Given the description of an element on the screen output the (x, y) to click on. 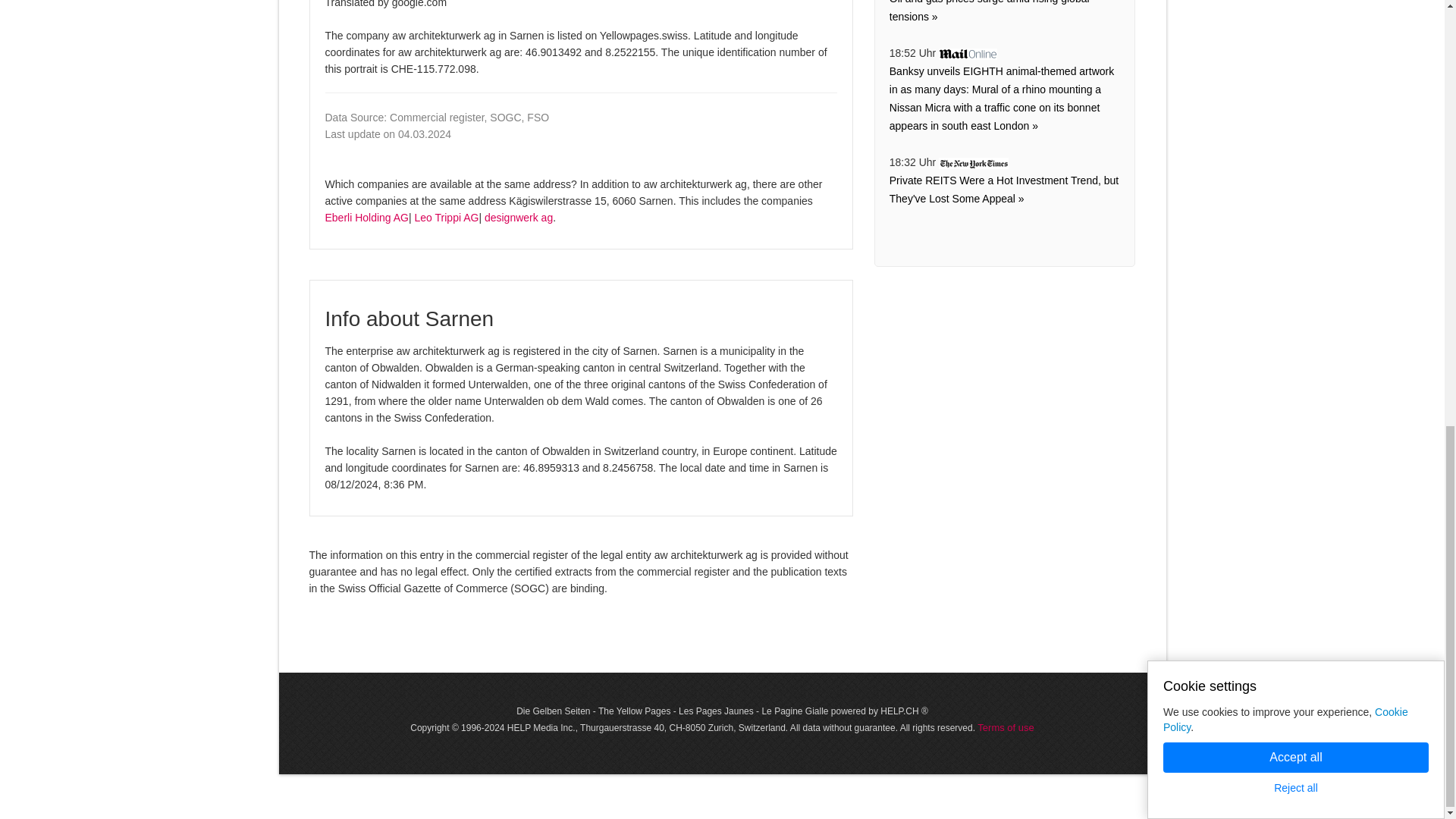
Eberli Holding AG (366, 217)
Terms of use (1004, 727)
Leo Trippi AG (446, 217)
designwerk ag (518, 217)
